Given the description of an element on the screen output the (x, y) to click on. 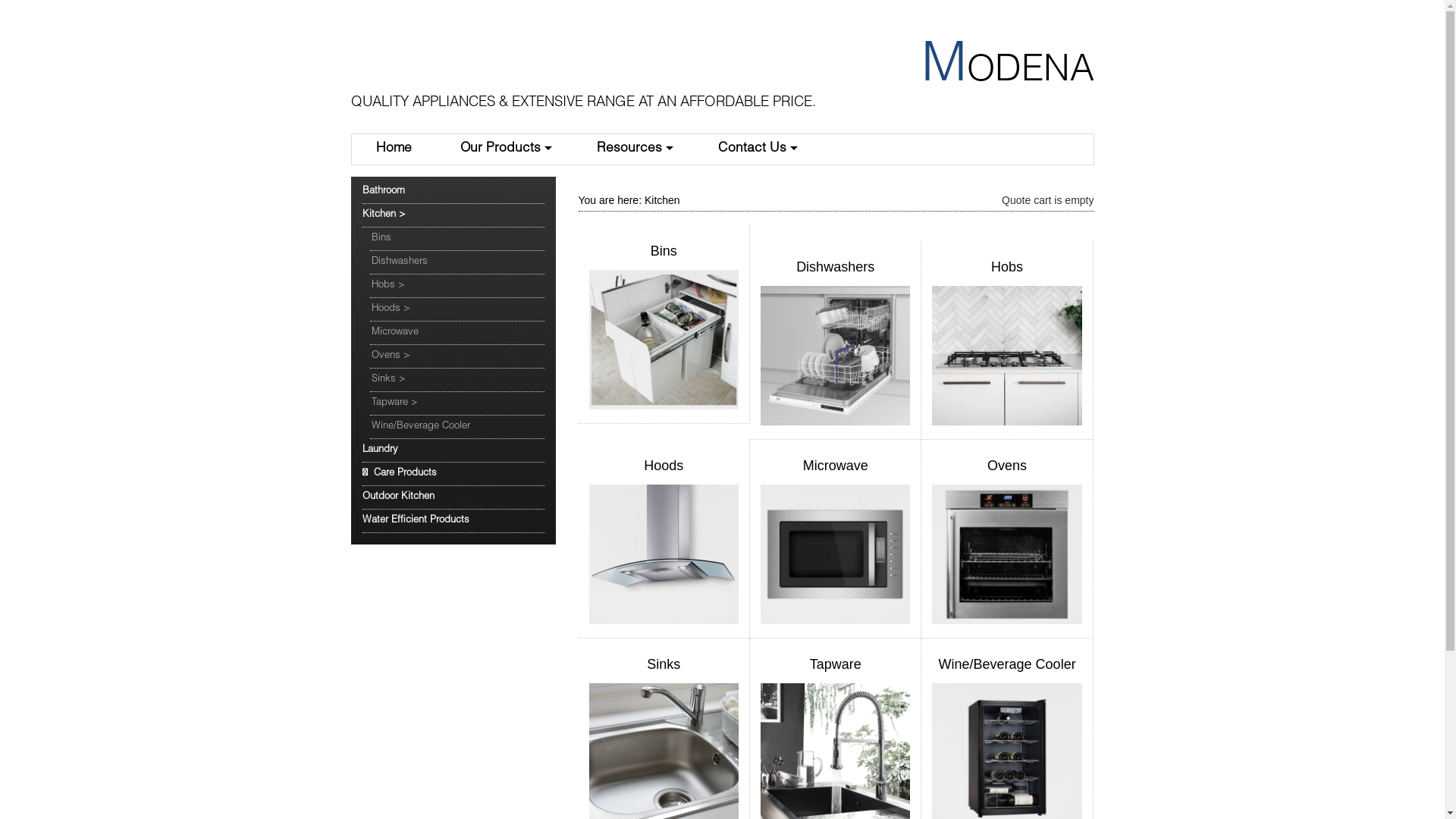
Ovens Element type: text (1006, 465)
Kitchen Element type: text (662, 200)
Contact Us Element type: text (754, 149)
Resources Element type: text (632, 149)
Ovens > Element type: text (457, 356)
Wine/Beverage Cooler Element type: text (457, 427)
Wine/Beverage Cooler Element type: text (1007, 663)
Sinks > Element type: text (457, 380)
Tapware Element type: text (835, 663)
Dishwashers Element type: text (457, 262)
Laundry Element type: text (453, 450)
Sinks Element type: text (663, 663)
Hoods Element type: text (663, 465)
Dishwashers Element type: text (835, 266)
Our Products Element type: text (503, 149)
Home Element type: text (393, 149)
Tapware > Element type: text (457, 403)
Kitchen > Element type: text (453, 215)
Microwave Element type: text (457, 333)
Bins Element type: text (457, 239)
Bins Element type: text (663, 250)
Bathroom Element type: text (453, 191)
Hobs Element type: text (1006, 266)
Hoods > Element type: text (457, 309)
Water Efficient Products Element type: text (453, 521)
Outdoor Kitchen Element type: text (453, 497)
Hobs > Element type: text (457, 286)
Microwave Element type: text (835, 465)
